Given the description of an element on the screen output the (x, y) to click on. 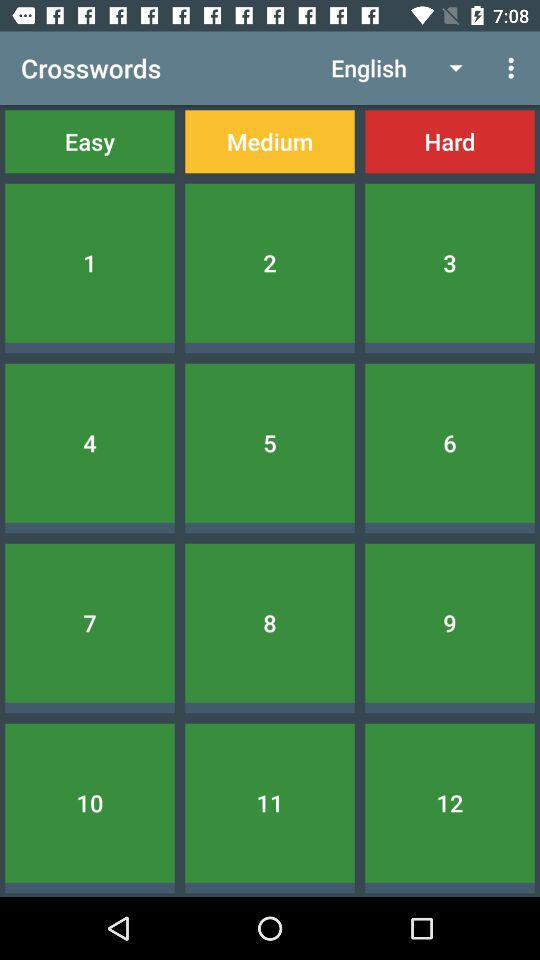
turn on icon above the 3 item (449, 141)
